Given the description of an element on the screen output the (x, y) to click on. 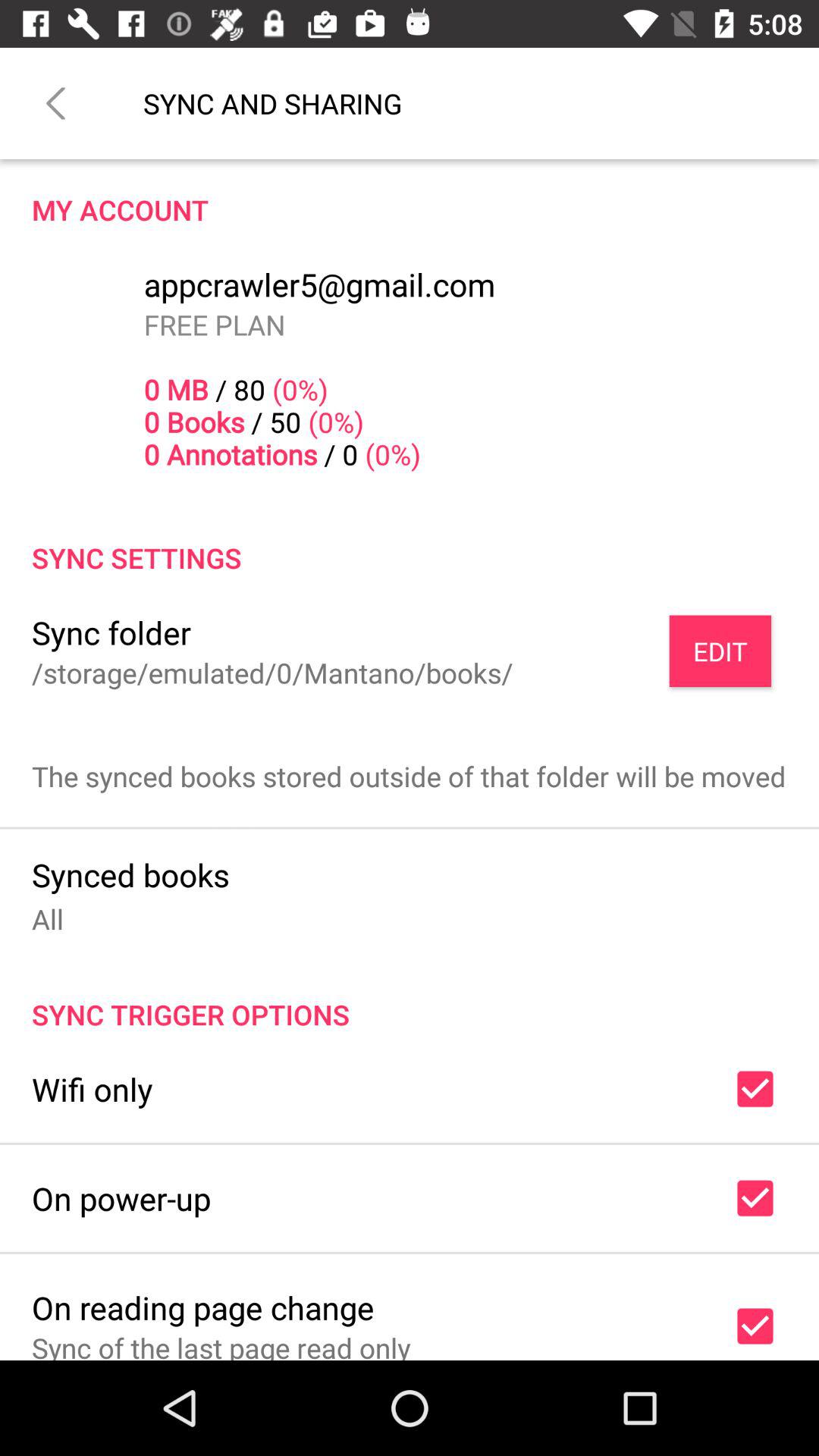
press the icon below wifi only item (121, 1197)
